Given the description of an element on the screen output the (x, y) to click on. 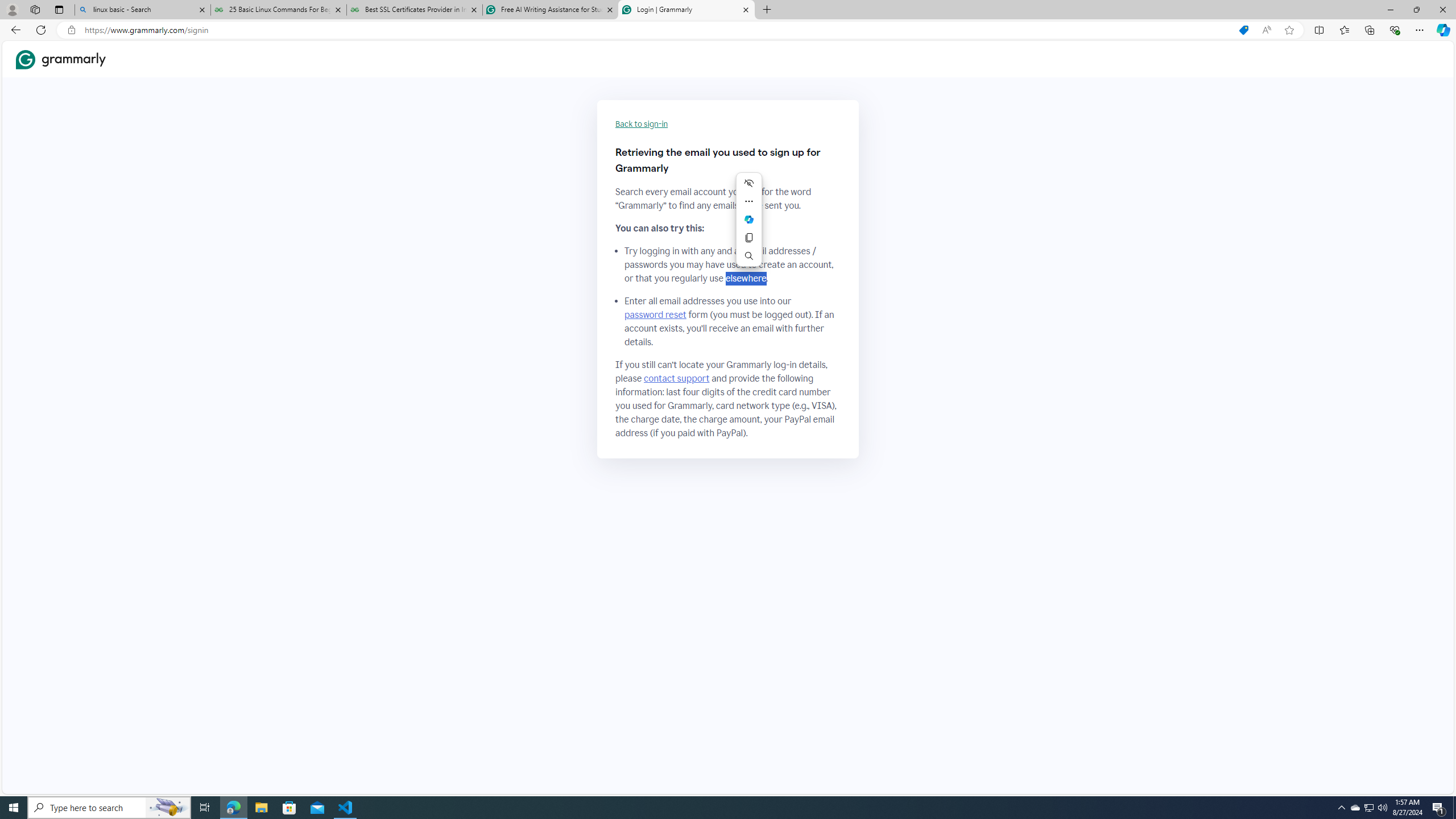
25 Basic Linux Commands For Beginners - GeeksforGeeks (277, 9)
Mini menu on text selection (748, 219)
linux basic - Search (142, 9)
More actions (748, 201)
